Given the description of an element on the screen output the (x, y) to click on. 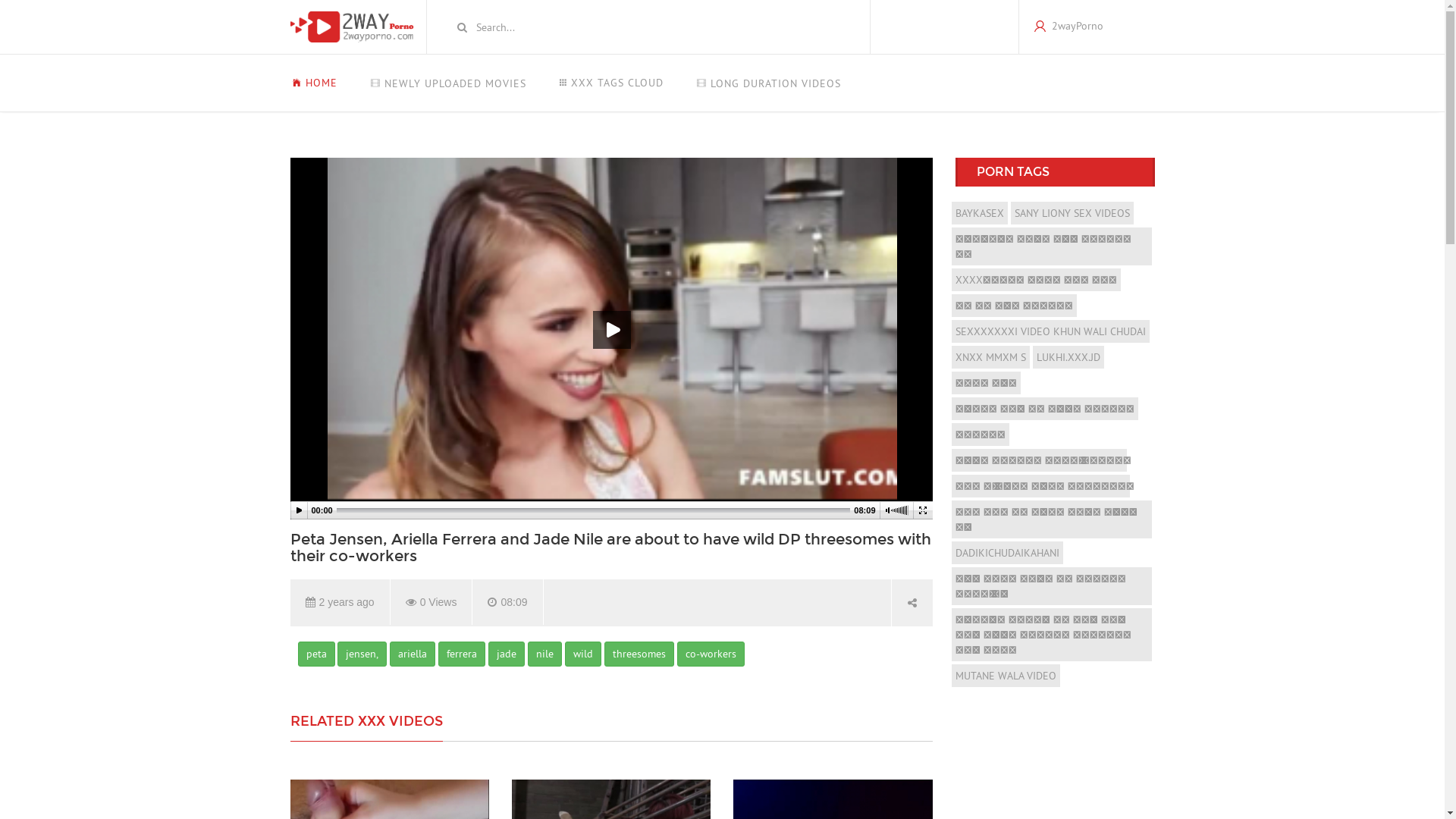
peta Element type: text (315, 653)
threesomes Element type: text (639, 653)
co-workers Element type: text (710, 653)
LUKHI.XXX.JD Element type: text (1068, 356)
jade Element type: text (506, 653)
LONG DURATION VIDEOS Element type: text (767, 82)
BAYKASEX Element type: text (979, 212)
ariella Element type: text (412, 653)
XNXX MMXM S Element type: text (990, 356)
DADIKICHUDAIKAHANI Element type: text (1007, 552)
wild Element type: text (582, 653)
jensen, Element type: text (361, 653)
SANY LIONY SEX VIDEOS Element type: text (1071, 212)
ferrera Element type: text (461, 653)
XXX TAGS CLOUD Element type: text (611, 82)
SEXXXXXXXI VIDEO KHUN WALI CHUDAI Element type: text (1050, 331)
NEWLY UPLOADED MOVIES Element type: text (447, 82)
MUTANE WALA VIDEO Element type: text (1005, 675)
HOME Element type: text (321, 82)
nile Element type: text (544, 653)
